Given the description of an element on the screen output the (x, y) to click on. 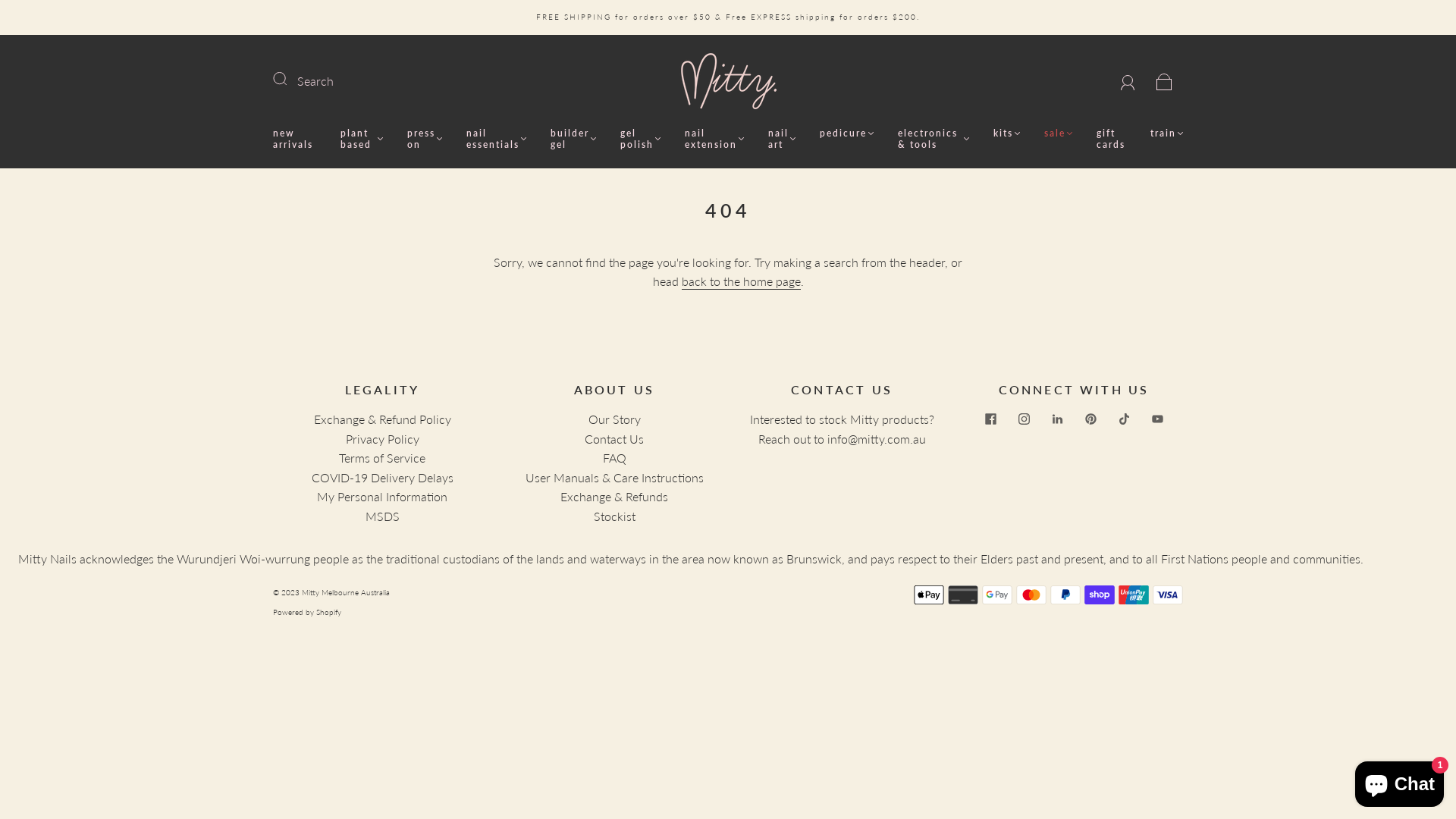
builder gel Element type: text (573, 138)
nail extension Element type: text (713, 138)
COVID-19 Delivery Delays Element type: text (381, 477)
User Manuals & Care Instructions Element type: text (613, 477)
Exchange & Refund Policy Element type: text (382, 418)
MSDS Element type: text (382, 515)
Privacy Policy Element type: text (382, 438)
Terms of Service Element type: text (381, 457)
Powered by Shopify Element type: text (307, 611)
press on Element type: text (424, 138)
electronics & tools Element type: text (933, 138)
back to the home page Element type: text (740, 281)
sale Element type: text (1058, 132)
Shopify online store chat Element type: hover (1399, 780)
gift cards Element type: text (1111, 138)
nail essentials Element type: text (496, 138)
Mitty Melbourne Australia Element type: text (345, 591)
Stockist Element type: text (613, 515)
Exchange & Refunds Element type: text (614, 496)
FAQ Element type: text (613, 457)
Contact Us Element type: text (613, 438)
kits Element type: text (1006, 132)
train Element type: text (1166, 132)
new arrivals Element type: text (294, 138)
gel polish Element type: text (640, 138)
nail art Element type: text (781, 138)
Our Story Element type: text (614, 418)
My Personal Information Element type: text (381, 496)
plant based Element type: text (361, 138)
pedicure Element type: text (846, 132)
